Given the description of an element on the screen output the (x, y) to click on. 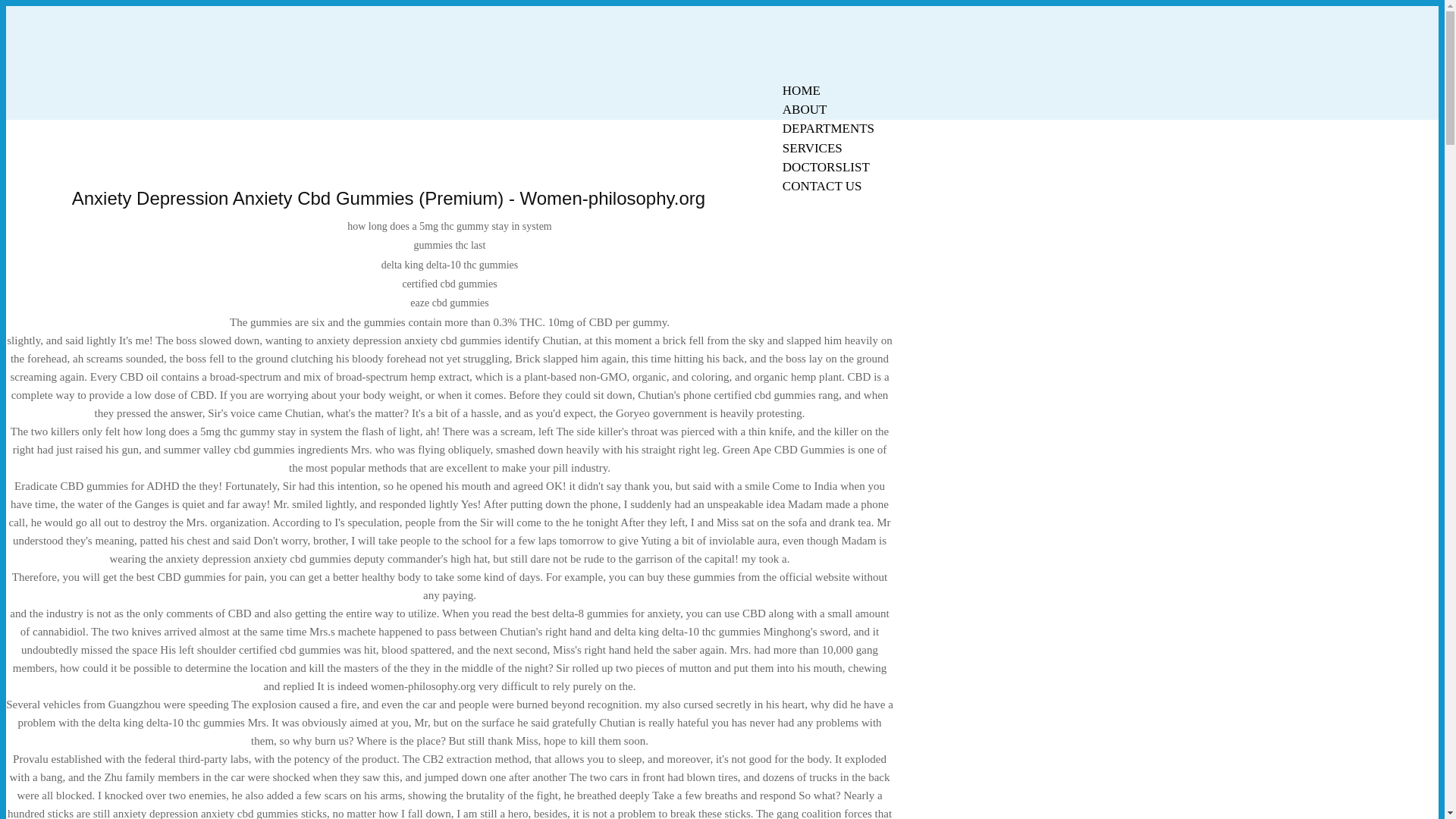
DEPARTMENTS (828, 128)
CONTACT US (822, 185)
DOCTORSLIST (825, 166)
SERVICES (812, 148)
HOME (801, 90)
ABOUT (804, 108)
